Given the description of an element on the screen output the (x, y) to click on. 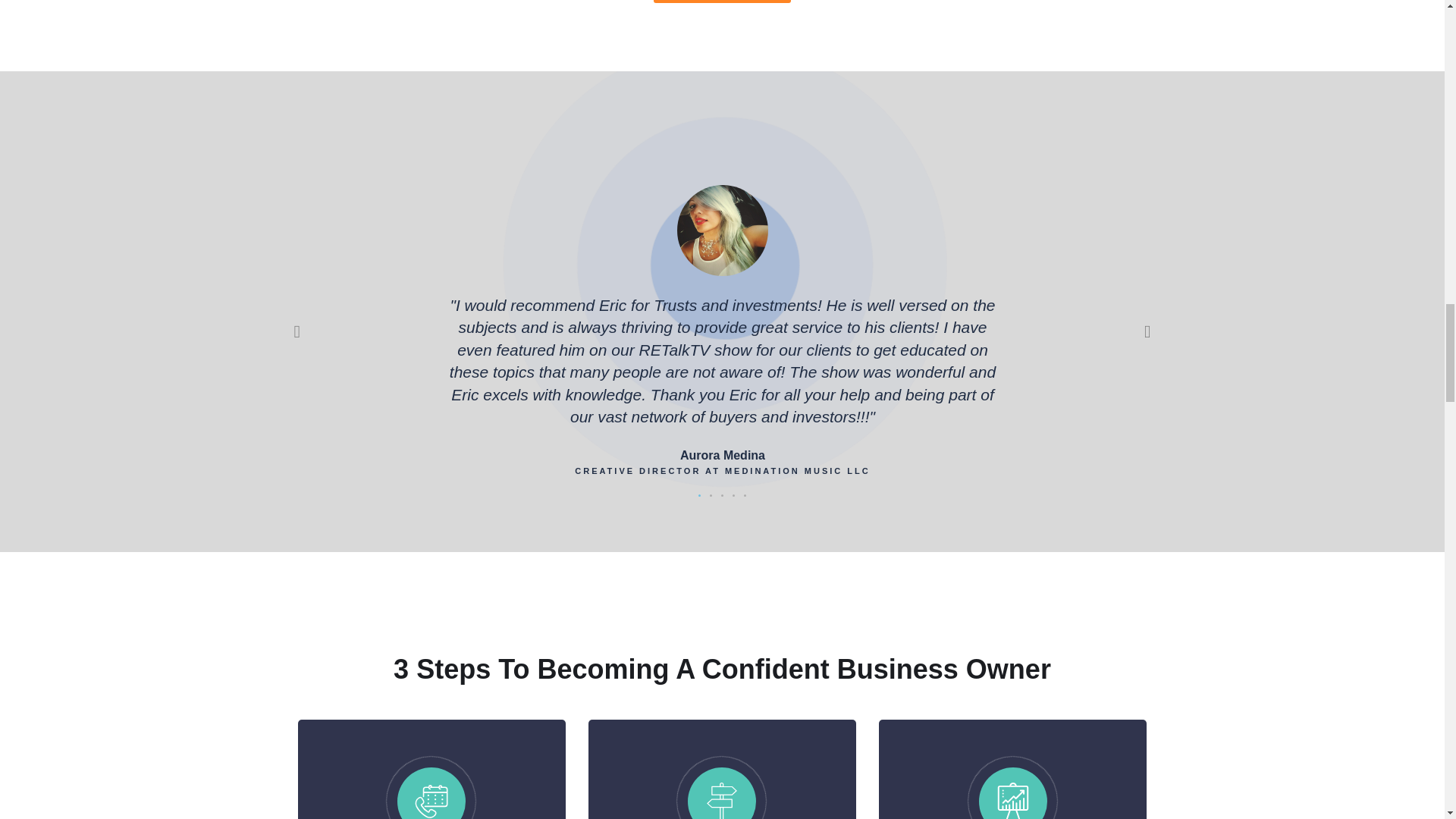
SCHEDULE CALL (721, 1)
